Given the description of an element on the screen output the (x, y) to click on. 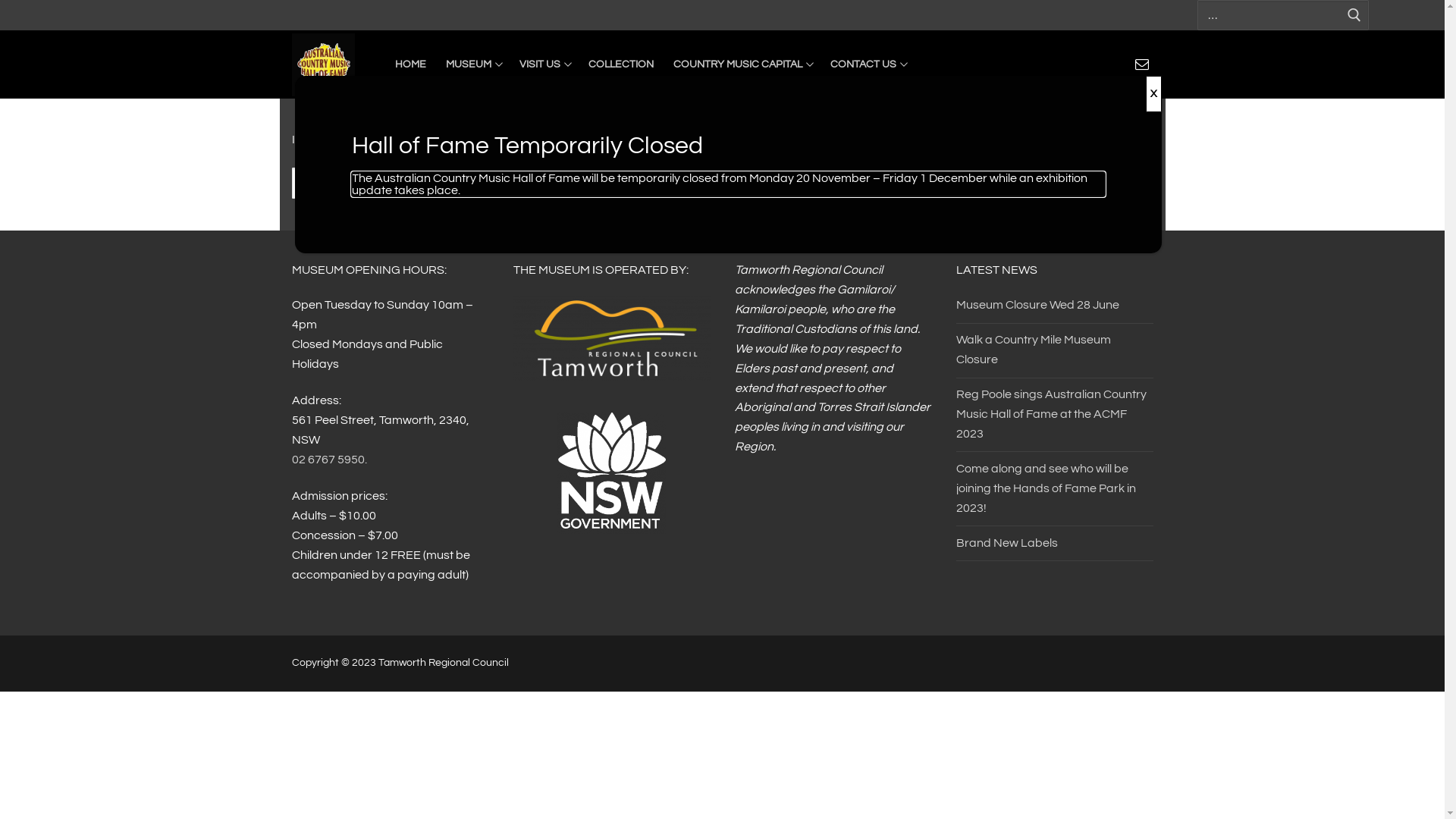
Search for: Element type: hover (721, 183)
Brand New Labels Element type: text (1053, 547)
CONTACT US
  Element type: text (867, 64)
02 6767 5950. Element type: text (328, 459)
COLLECTION Element type: text (619, 64)
Walk a Country Mile Museum Closure Element type: text (1053, 353)
MUSEUM
  Element type: text (471, 64)
Museum Closure Wed 28 June Element type: text (1053, 309)
VISIT US
  Element type: text (543, 64)
COUNTRY MUSIC CAPITAL
  Element type: text (740, 64)
Mail Element type: hover (1141, 64)
X Element type: text (1153, 93)
HOME Element type: text (410, 64)
Search for: Element type: hover (1283, 14)
